Given the description of an element on the screen output the (x, y) to click on. 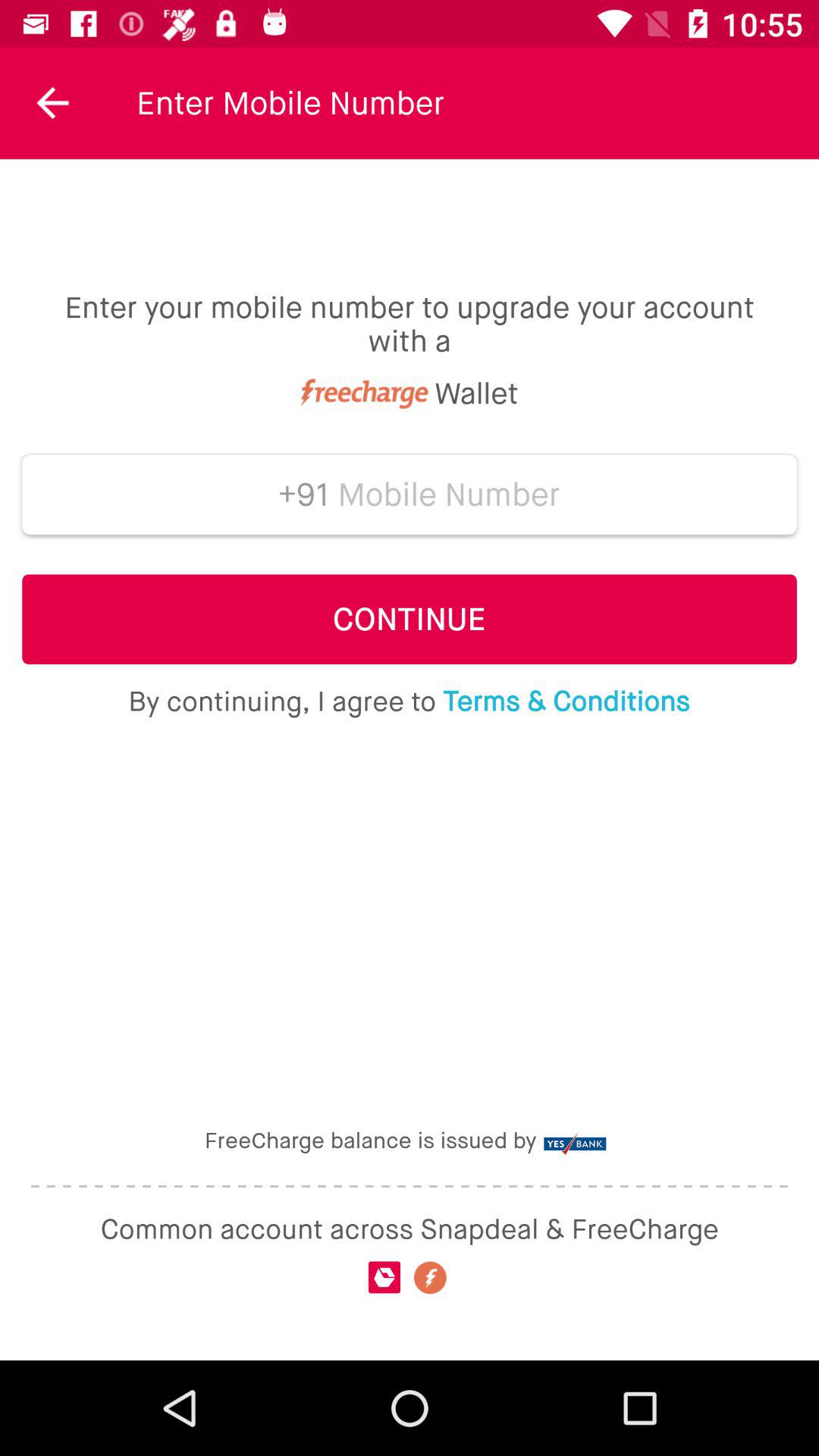
turn on the icon above the by continuing i (409, 619)
